Given the description of an element on the screen output the (x, y) to click on. 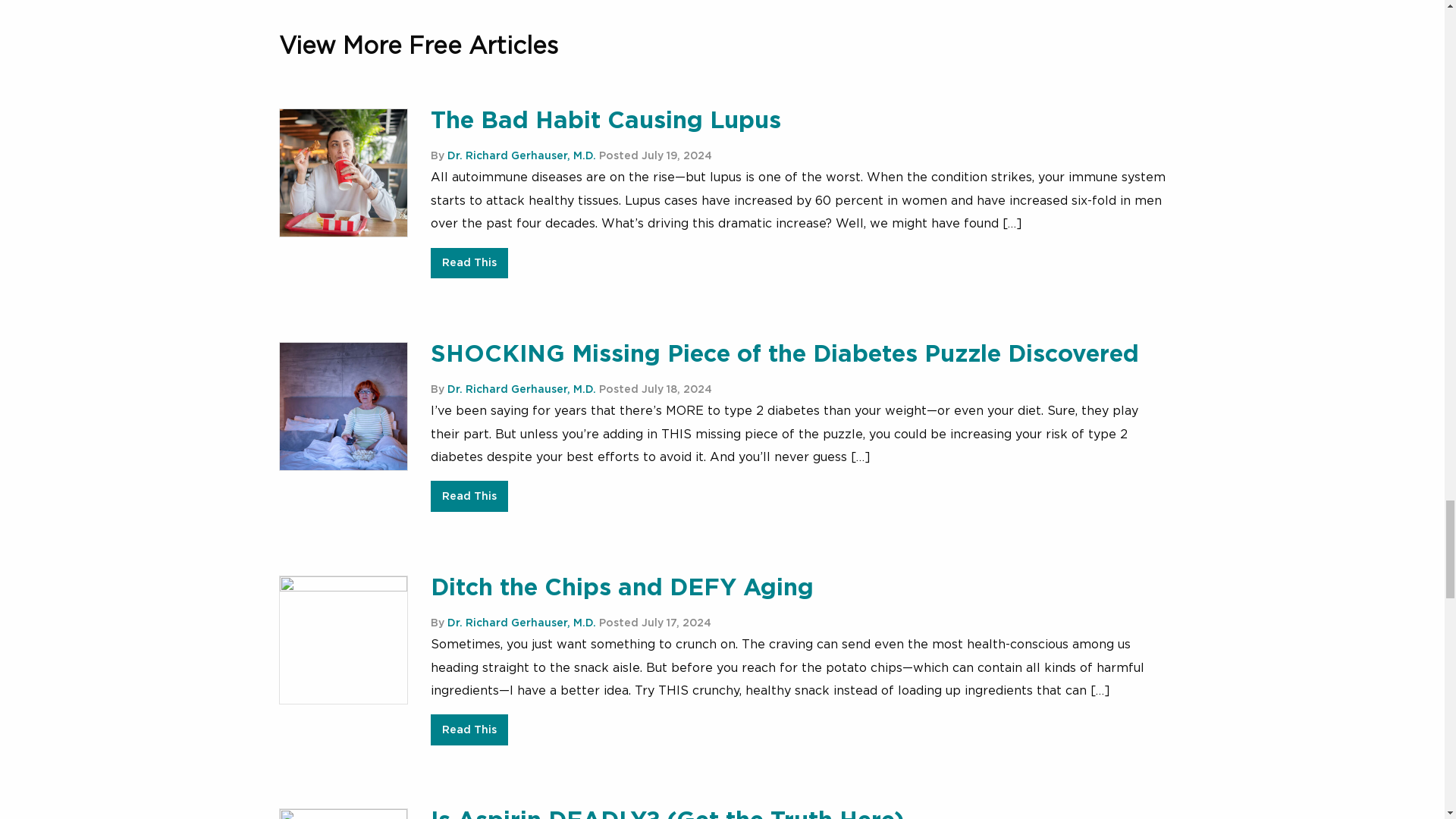
Read This (469, 263)
The Bad Habit Causing Lupus (605, 120)
SHOCKING Missing Piece of the Diabetes Puzzle Discovered (784, 354)
Ditch the Chips and DEFY Aging (621, 587)
Dr. Richard Gerhauser, M.D. (520, 389)
Dr. Richard Gerhauser, M.D. (520, 155)
Read This (469, 495)
